Given the description of an element on the screen output the (x, y) to click on. 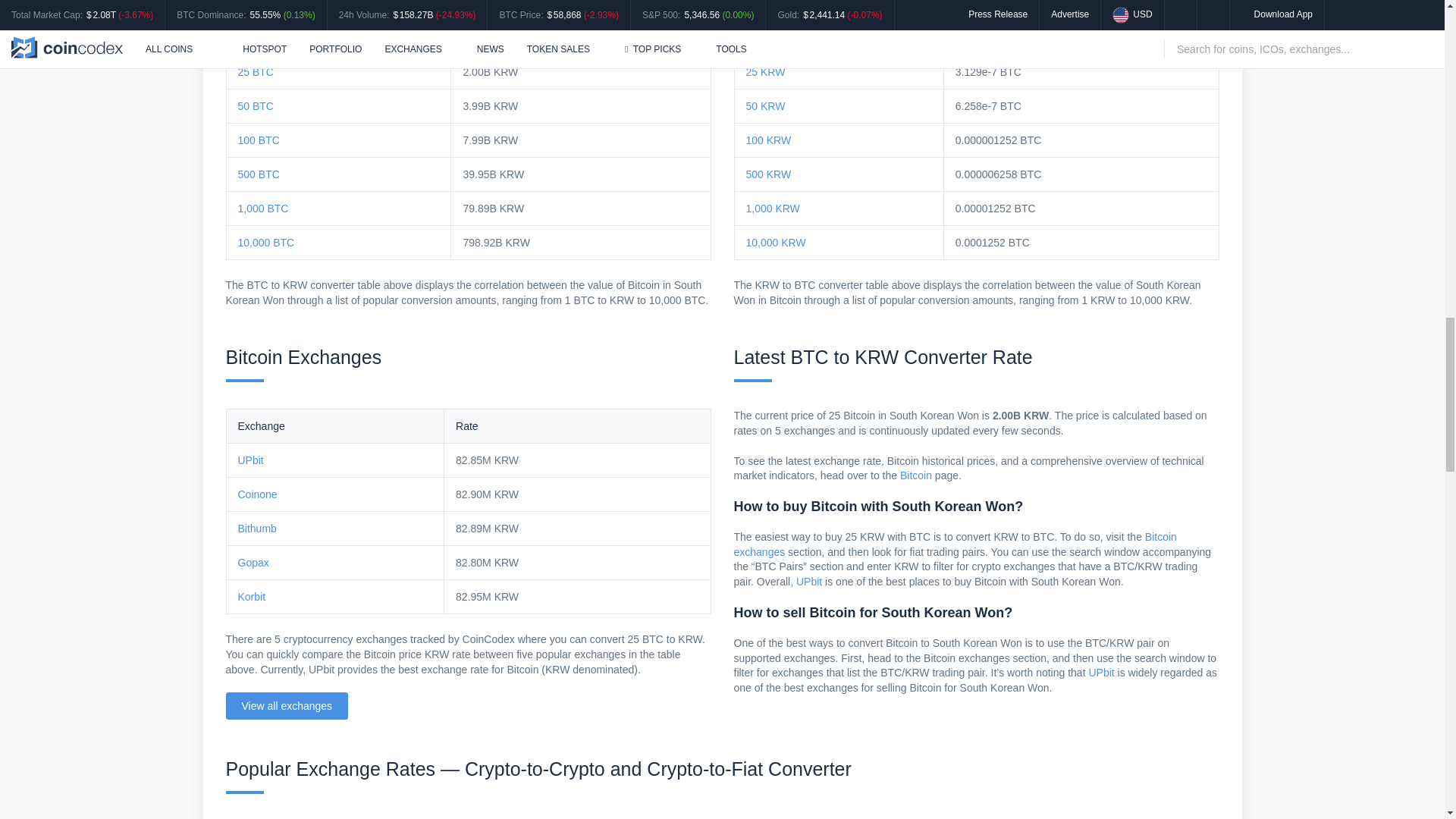
50 KRW (765, 105)
100 KRW (768, 140)
100 BTC (258, 140)
50 BTC (255, 105)
25 BTC (255, 71)
1,000 BTC (263, 208)
1,000 KRW (772, 208)
5 KRW (761, 4)
10 KRW (765, 37)
500 BTC (258, 174)
10 BTC (255, 37)
5 BTC (252, 4)
25 KRW (765, 71)
500 KRW (768, 174)
10,000 BTC (266, 242)
